Given the description of an element on the screen output the (x, y) to click on. 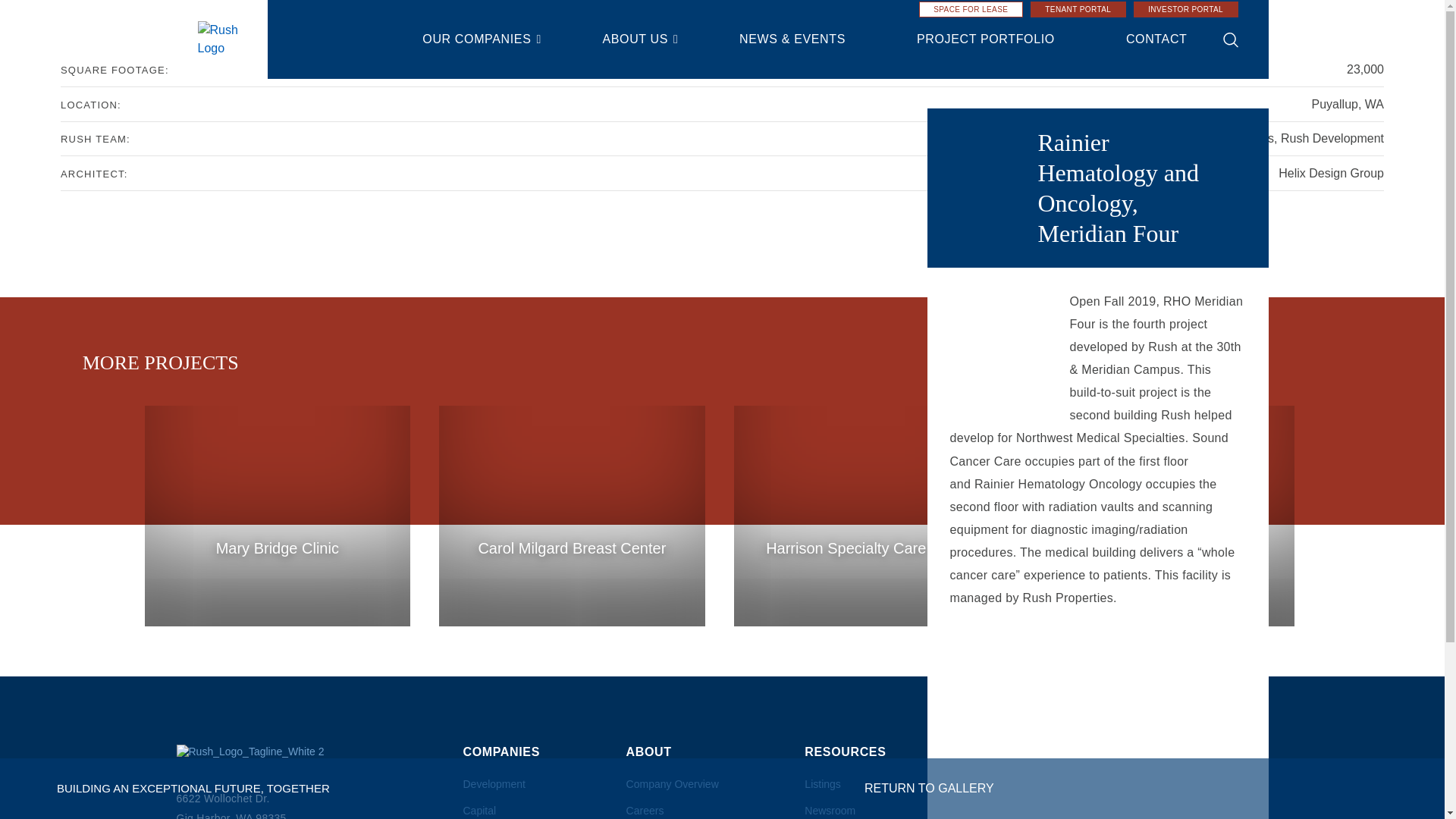
ABOUT US (634, 39)
SPACE FOR LEASE (970, 9)
CONTACT (1156, 39)
PROJECT PORTFOLIO (985, 39)
TENANT PORTAL (1077, 9)
RETURN TO GALLERY (929, 788)
OUR COMPANIES (476, 39)
INVESTOR PORTAL (1186, 9)
Return to Properties (929, 788)
